Given the description of an element on the screen output the (x, y) to click on. 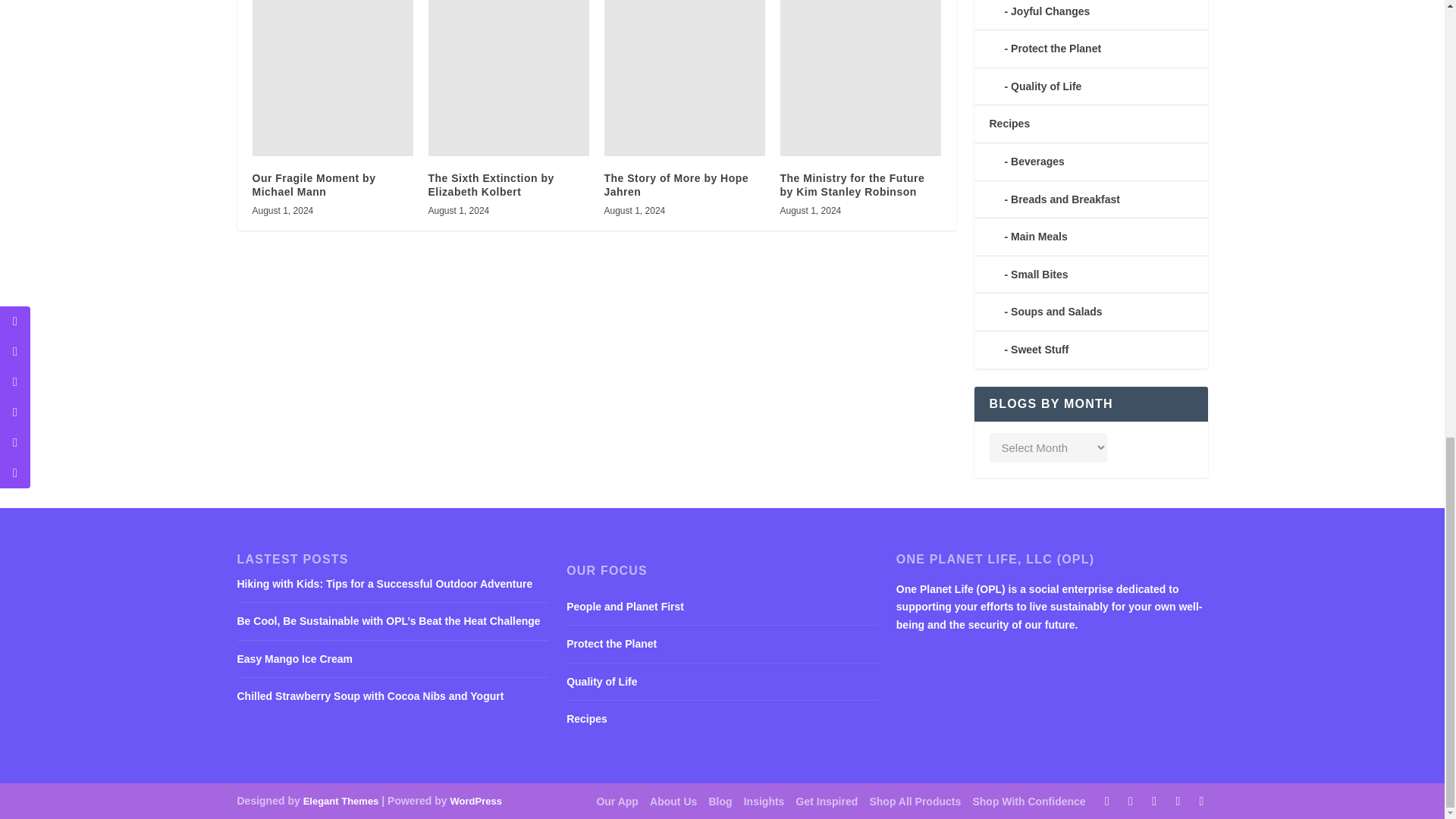
The Story of More by Hope Jahren (684, 78)
The Ministry for the Future by Kim Stanley Robinson (859, 78)
Our Fragile Moment by Michael Mann (331, 78)
The Sixth Extinction by Elizabeth Kolbert (508, 78)
